Given the description of an element on the screen output the (x, y) to click on. 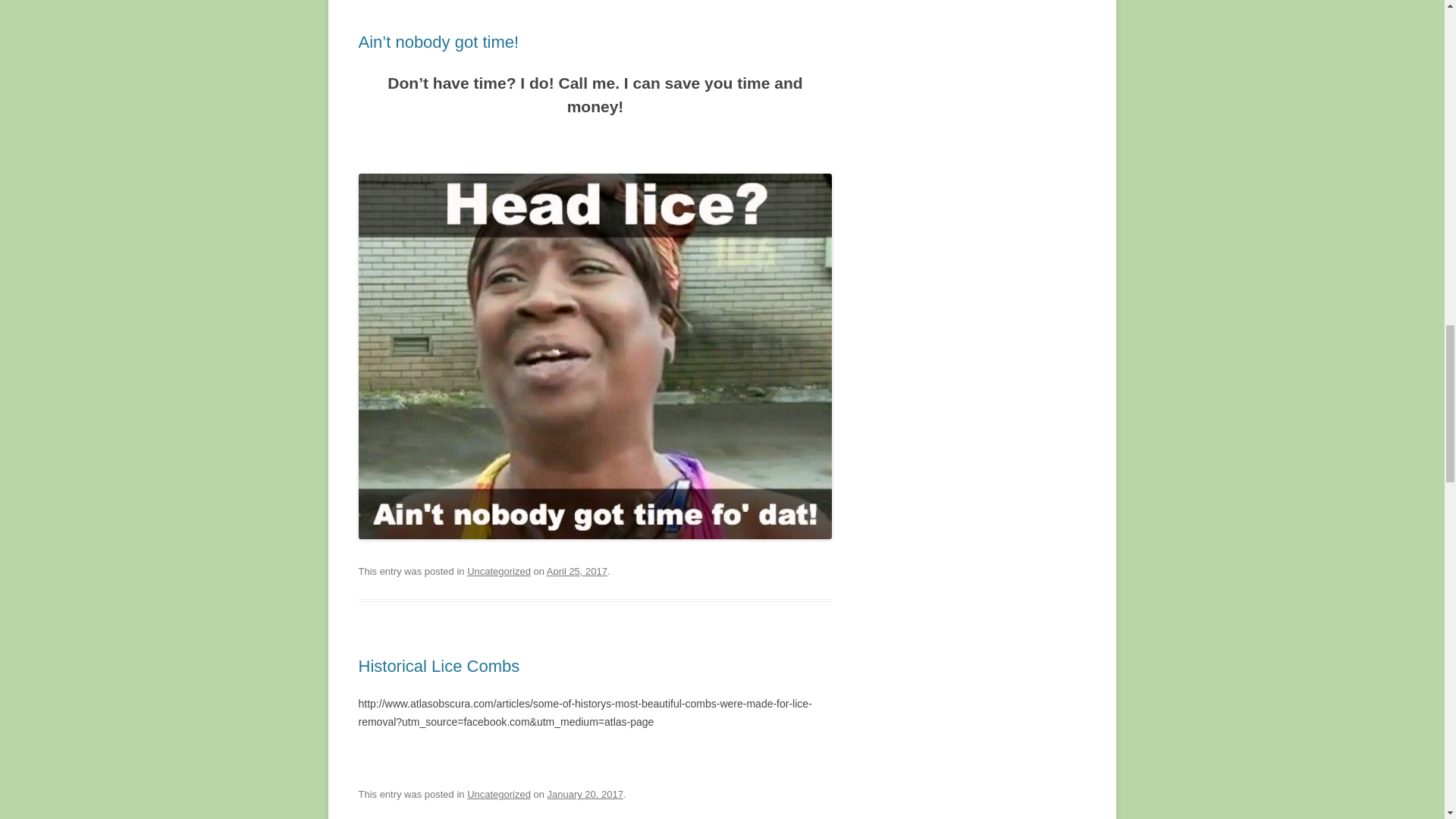
2:25 pm (577, 571)
Historical Lice Combs (438, 665)
Uncategorized (499, 571)
January 20, 2017 (585, 794)
3:44 pm (585, 794)
Uncategorized (499, 794)
April 25, 2017 (577, 571)
